Given the description of an element on the screen output the (x, y) to click on. 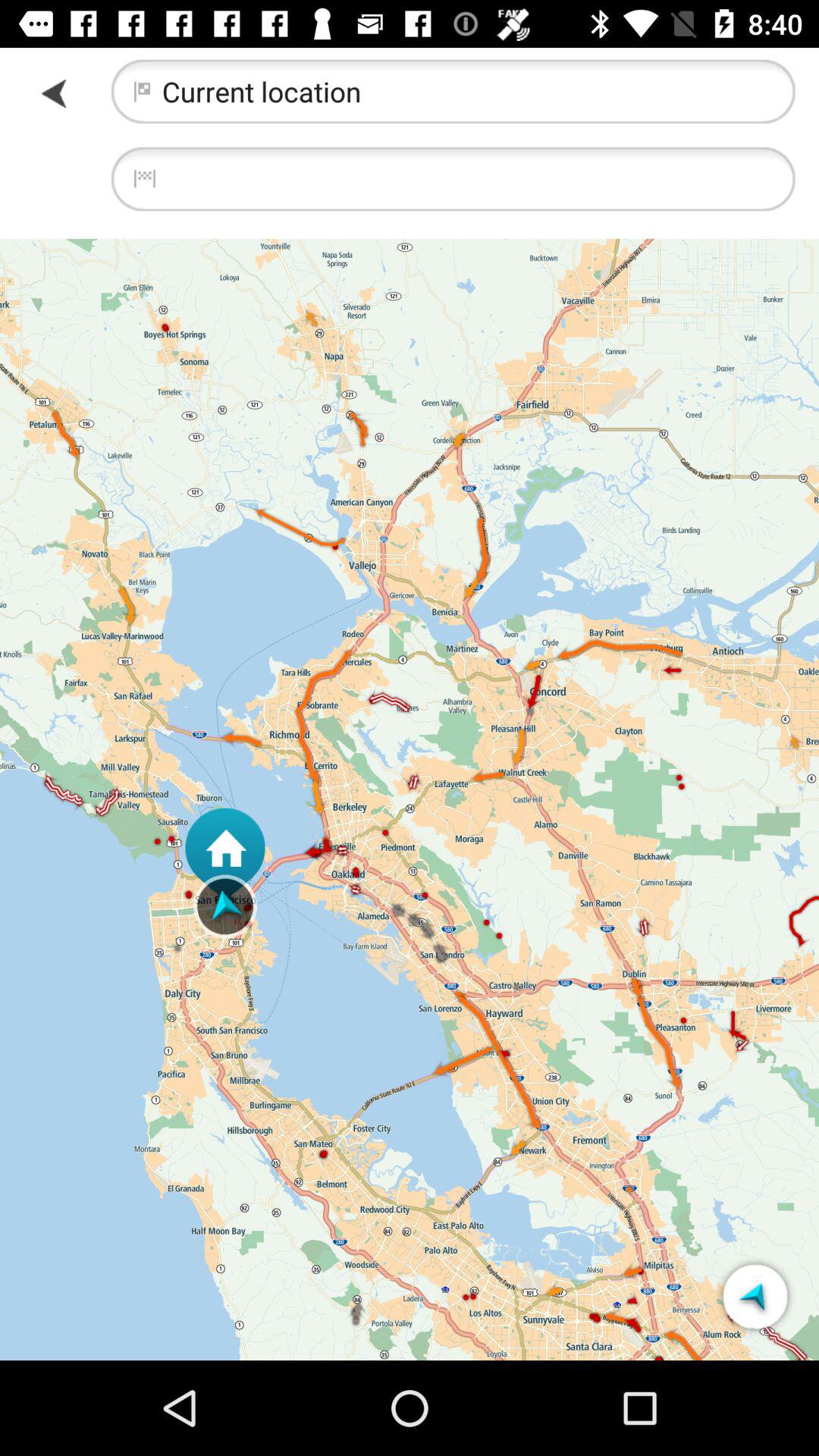
launch the icon at the bottom right corner (755, 1296)
